Given the description of an element on the screen output the (x, y) to click on. 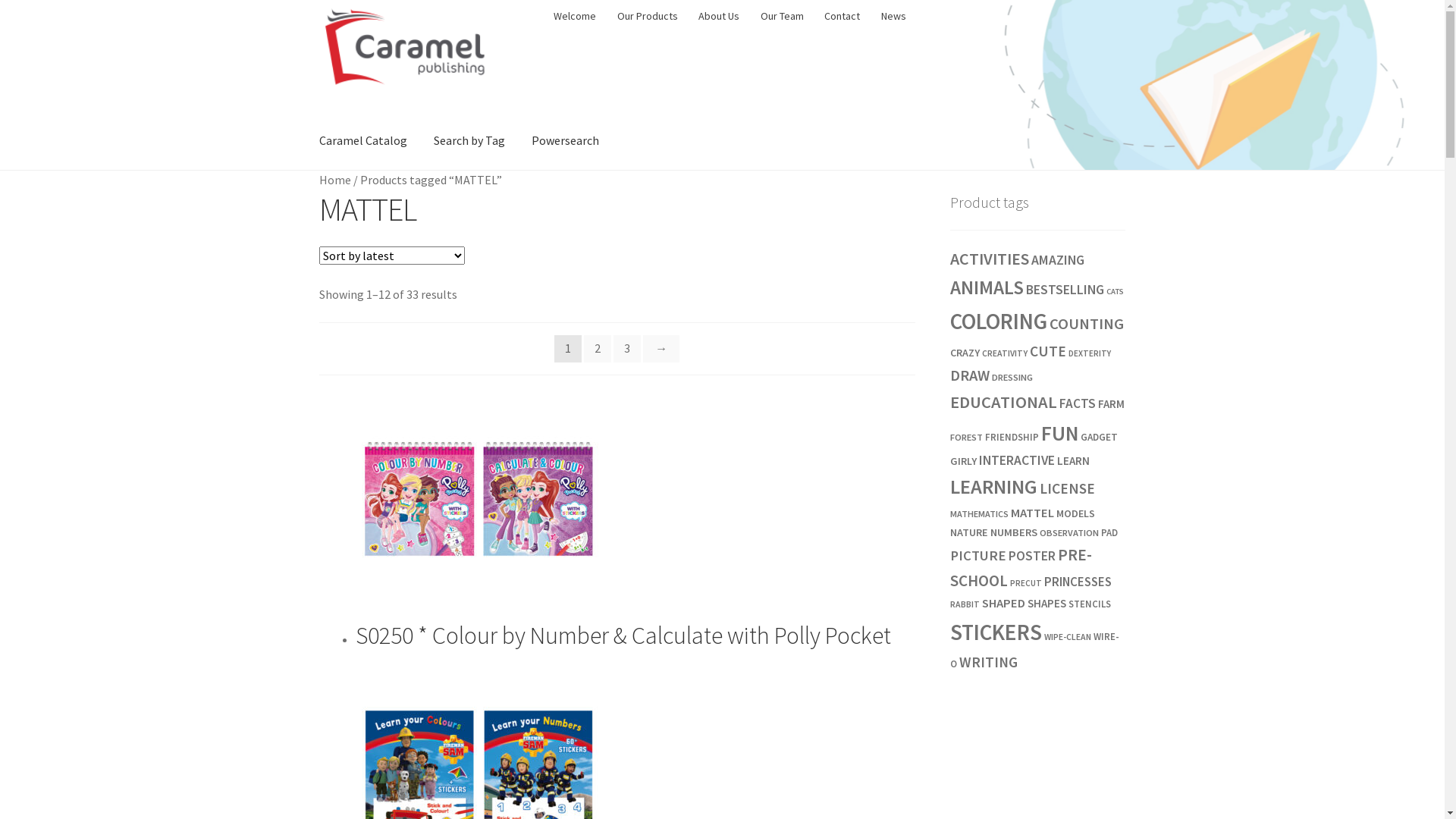
LEARNING Element type: text (993, 485)
WIRE-O Element type: text (1034, 649)
Powersearch Element type: text (565, 140)
EDUCATIONAL Element type: text (1003, 401)
Search by Tag Element type: text (469, 140)
FUN Element type: text (1059, 432)
CATS Element type: text (1114, 291)
Our Products Element type: text (647, 15)
Contact Element type: text (842, 15)
BESTSELLING Element type: text (1065, 289)
LICENSE Element type: text (1067, 488)
PRINCESSES Element type: text (1077, 581)
DRAW Element type: text (969, 375)
SHAPES Element type: text (1046, 603)
WIPE-CLEAN Element type: text (1067, 636)
NATURE Element type: text (969, 532)
Welcome Element type: text (574, 15)
GADGET Element type: text (1098, 436)
INTERACTIVE Element type: text (1016, 459)
About Us Element type: text (719, 15)
PRECUT Element type: text (1025, 582)
DEXTERITY Element type: text (1089, 353)
COLORING Element type: text (998, 321)
RABBIT Element type: text (964, 604)
STENCILS Element type: text (1089, 603)
S0250 * Colour by Number & Calculate with Polly Pocket Element type: text (635, 512)
CUTE Element type: text (1047, 351)
FRIENDSHIP Element type: text (1011, 436)
STICKERS Element type: text (995, 632)
FACTS Element type: text (1077, 403)
MATHEMATICS Element type: text (979, 513)
PAD Element type: text (1109, 532)
Caramel Catalog Element type: text (363, 140)
DRESSING Element type: text (1011, 376)
PRE-SCHOOL Element type: text (1021, 567)
COUNTING Element type: text (1086, 323)
GIRLY Element type: text (963, 460)
SHAPED Element type: text (1003, 603)
CREATIVITY Element type: text (1004, 353)
News Element type: text (893, 15)
LEARN Element type: text (1073, 460)
ANIMALS Element type: text (986, 287)
ACTIVITIES Element type: text (989, 258)
Home Element type: text (335, 179)
Our Team Element type: text (781, 15)
CRAZY Element type: text (964, 352)
NUMBERS Element type: text (1013, 532)
FARM Element type: text (1111, 403)
FOREST Element type: text (966, 436)
POSTER Element type: text (1031, 555)
AMAZING Element type: text (1057, 259)
OBSERVATION Element type: text (1068, 532)
MODELS Element type: text (1075, 513)
MATTEL Element type: text (1032, 512)
3 Element type: text (626, 349)
PICTURE Element type: text (978, 555)
WRITING Element type: text (988, 661)
2 Element type: text (597, 349)
